Given the description of an element on the screen output the (x, y) to click on. 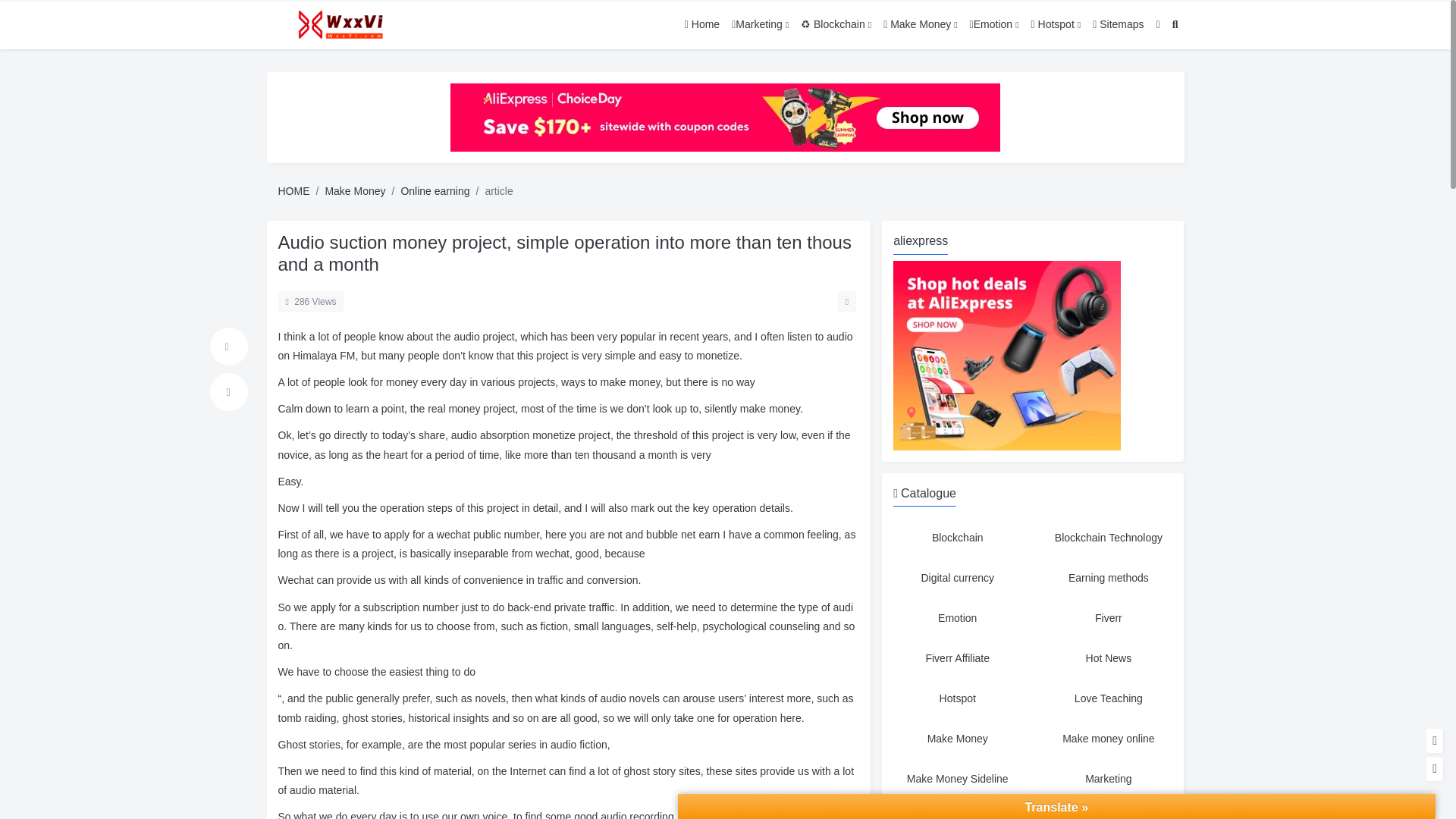
Digital currency (957, 578)
Blockchain (957, 538)
Hot News (1108, 658)
Marketing (1108, 778)
Earning methods (1108, 578)
Fiverr (1108, 618)
Metaverse (957, 812)
Blockchain Technology (1108, 538)
Hotspot (957, 698)
Make money online (1108, 738)
